Given the description of an element on the screen output the (x, y) to click on. 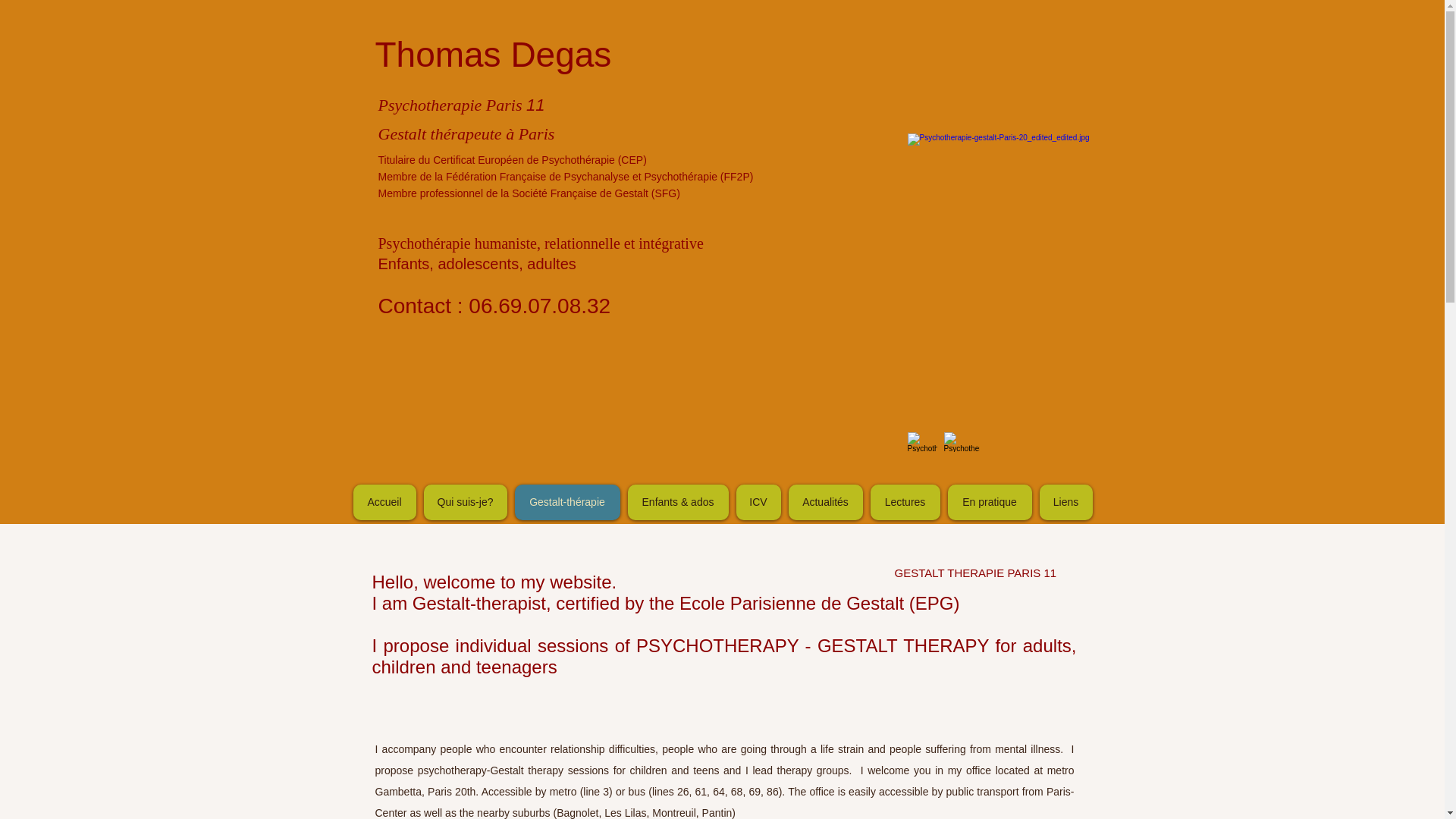
Liens (1065, 502)
Qui suis-je? (464, 502)
Gestalt therapis Paris (960, 442)
 Thomas Degas (488, 54)
ICV (757, 502)
Lectures (905, 502)
GESTALT THERAPIE PARIS 11 (976, 573)
Gestalt therapute Paris (921, 442)
Accueil (384, 502)
En pratique (989, 502)
